Given the description of an element on the screen output the (x, y) to click on. 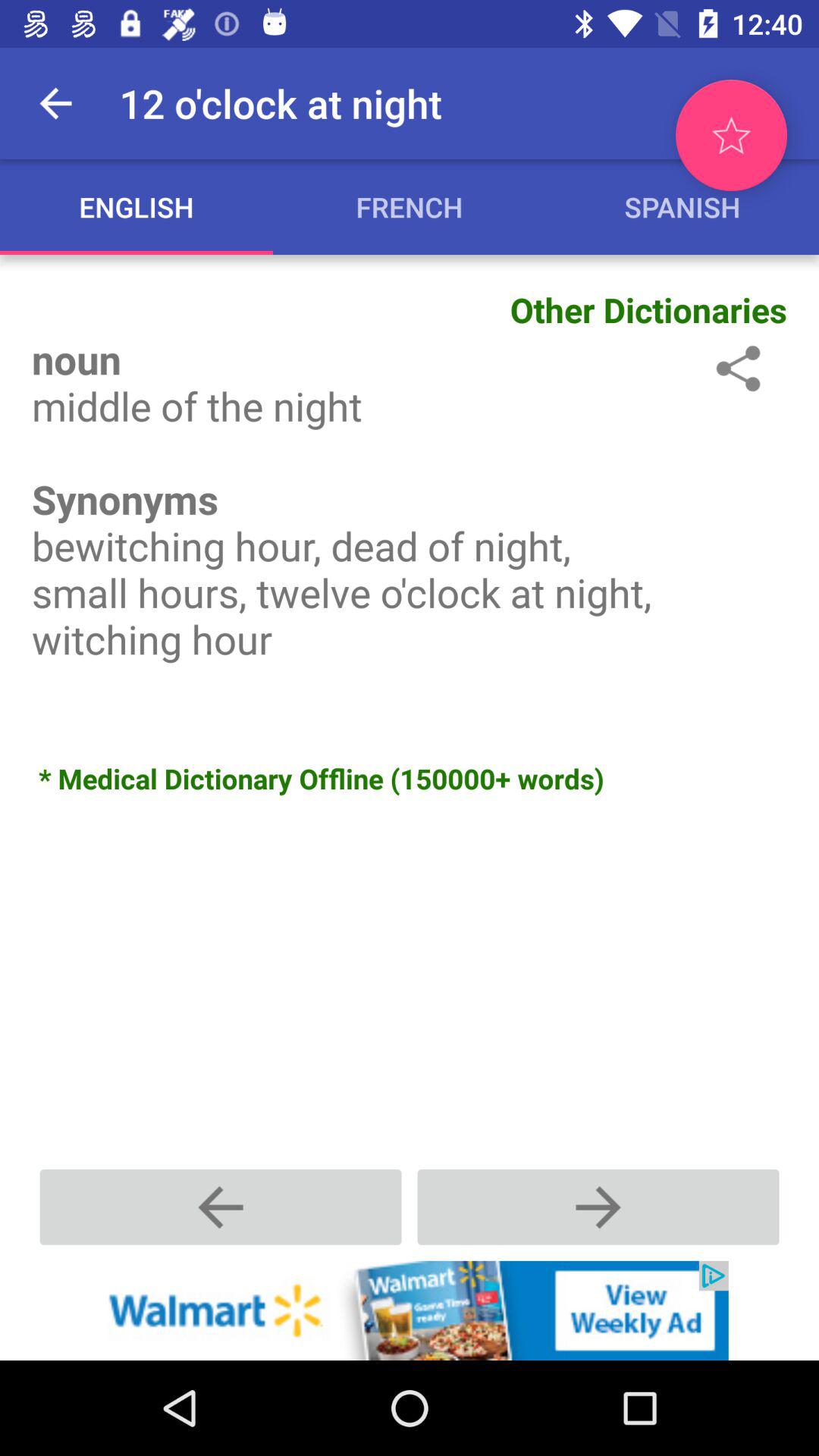
go to next option (598, 1206)
